Given the description of an element on the screen output the (x, y) to click on. 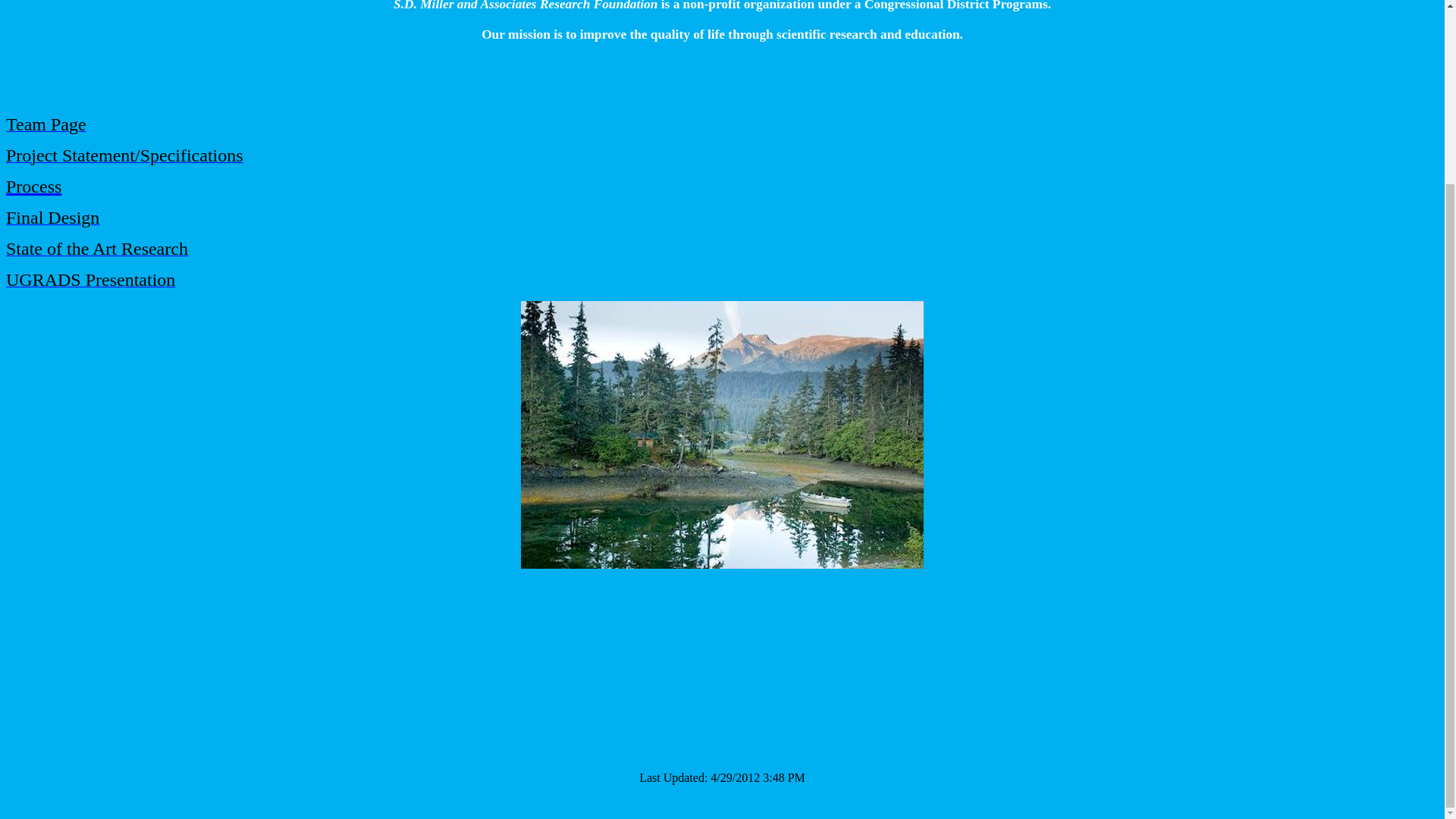
Process (33, 186)
UGRADS Presentation (89, 282)
Team Page (45, 126)
State of the Art Research (96, 250)
Final Design (52, 219)
